Given the description of an element on the screen output the (x, y) to click on. 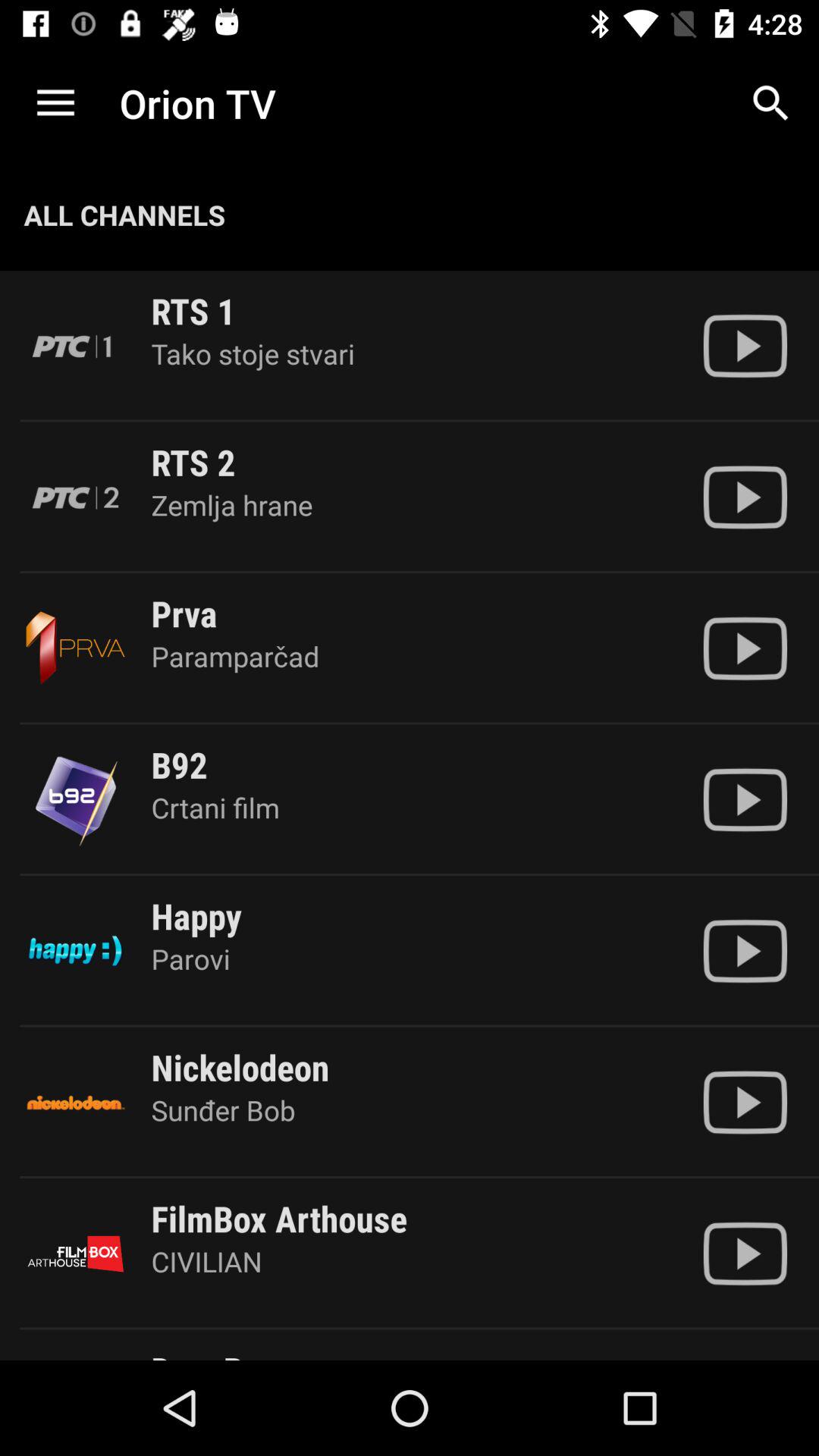
play channel (745, 1253)
